Given the description of an element on the screen output the (x, y) to click on. 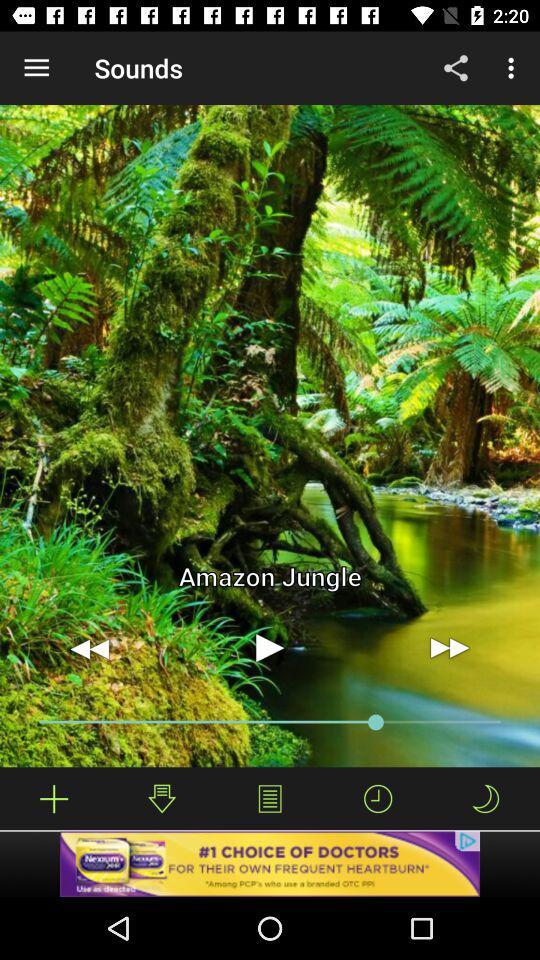
go to increase (54, 798)
